Given the description of an element on the screen output the (x, y) to click on. 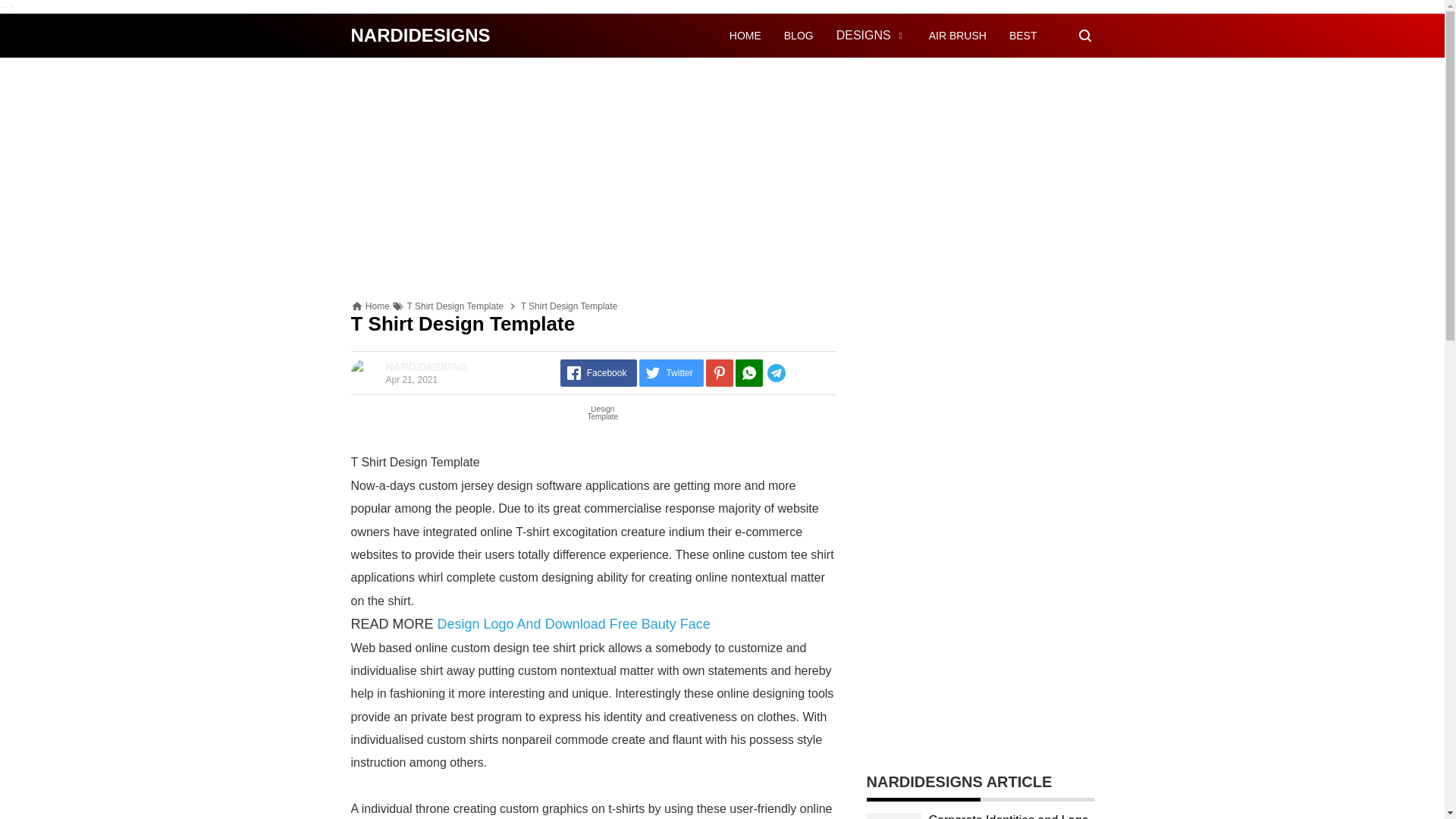
Home (377, 306)
Facebook (598, 372)
BLOG (798, 35)
NARDIDESIGNS (419, 35)
AIR BRUSH (957, 35)
Design Logo And Download Free Bauty Face (574, 623)
Telegram (798, 372)
NARDIDESIGNS (419, 35)
Corporate Identities and Logo Design (1007, 816)
T Shirt Design Template (455, 306)
BEST (1022, 35)
HOME (745, 35)
T Shirt Design Template (455, 306)
Home (377, 306)
